Given the description of an element on the screen output the (x, y) to click on. 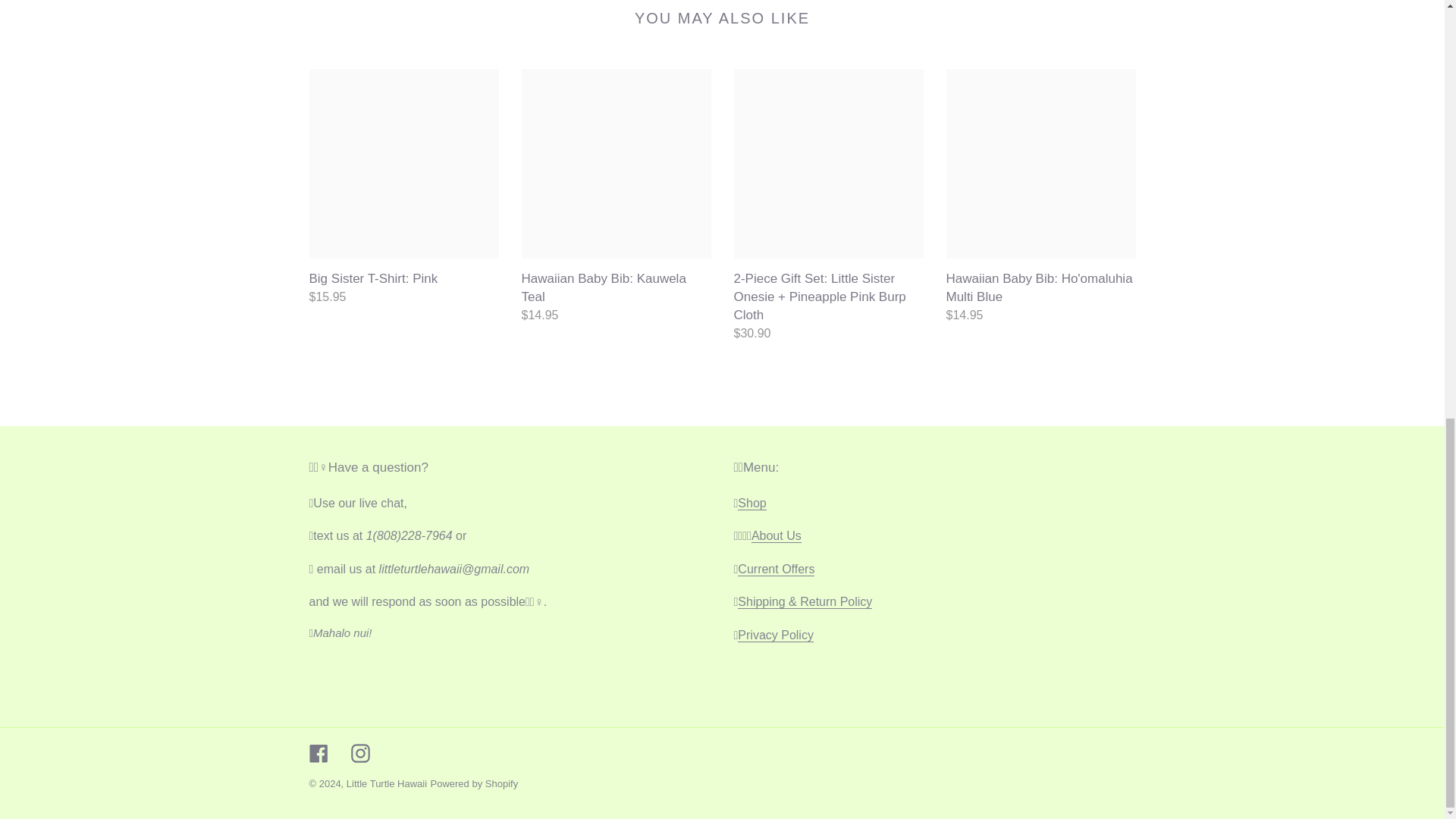
All Collections (751, 503)
Privacy Policy (775, 635)
ABOUT US (776, 535)
